Given the description of an element on the screen output the (x, y) to click on. 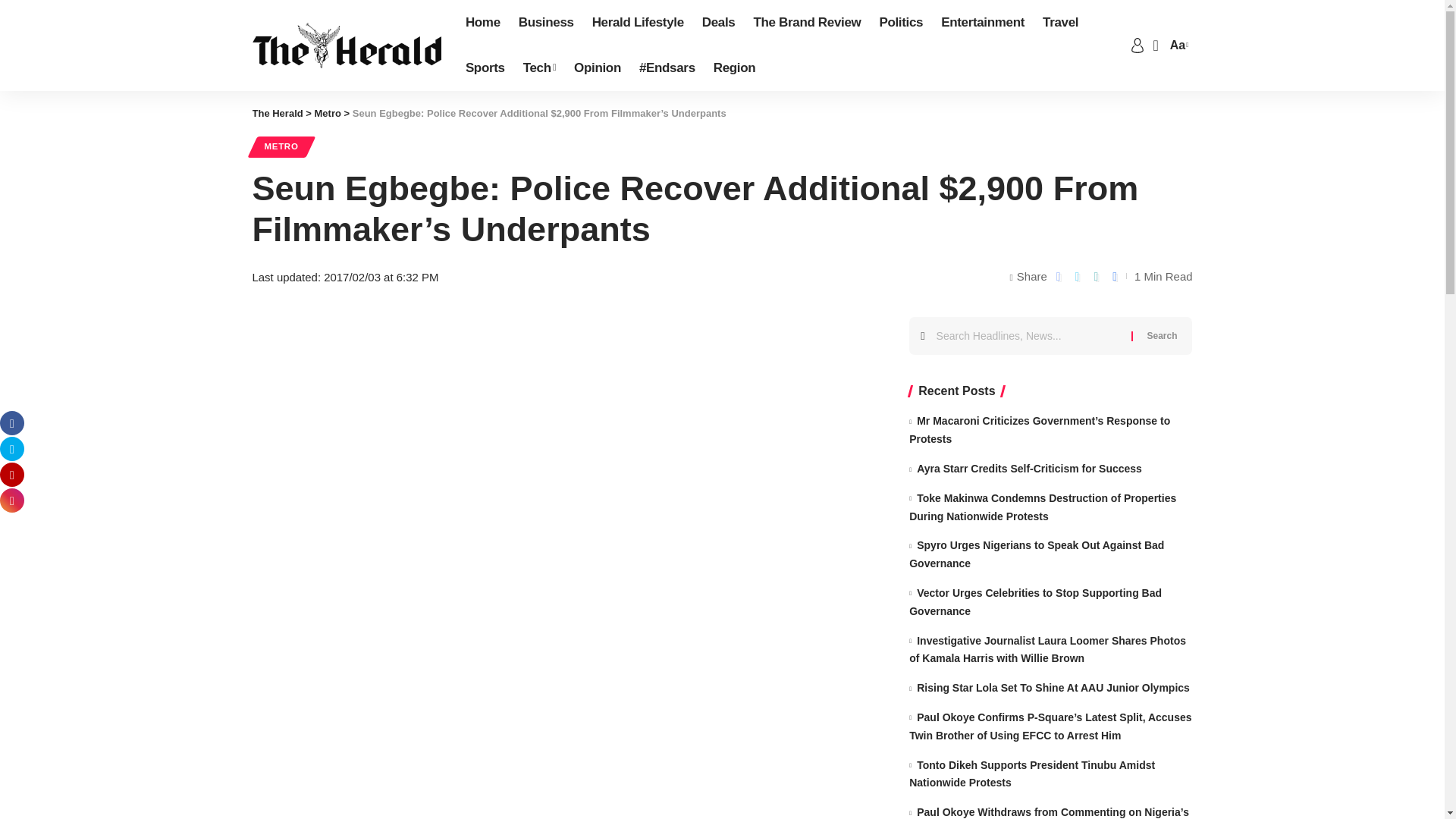
Deals (718, 22)
Sports (485, 67)
Tech (538, 67)
Opinion (597, 67)
Home (483, 22)
Politics (900, 22)
Herald Lifestyle (638, 22)
The Brand Review (806, 22)
Region (734, 67)
Search (1161, 335)
Go to The Herald. (276, 112)
The Herald (346, 44)
Business (546, 22)
Go to the Metro Category archives. (327, 112)
Aa (1177, 45)
